Given the description of an element on the screen output the (x, y) to click on. 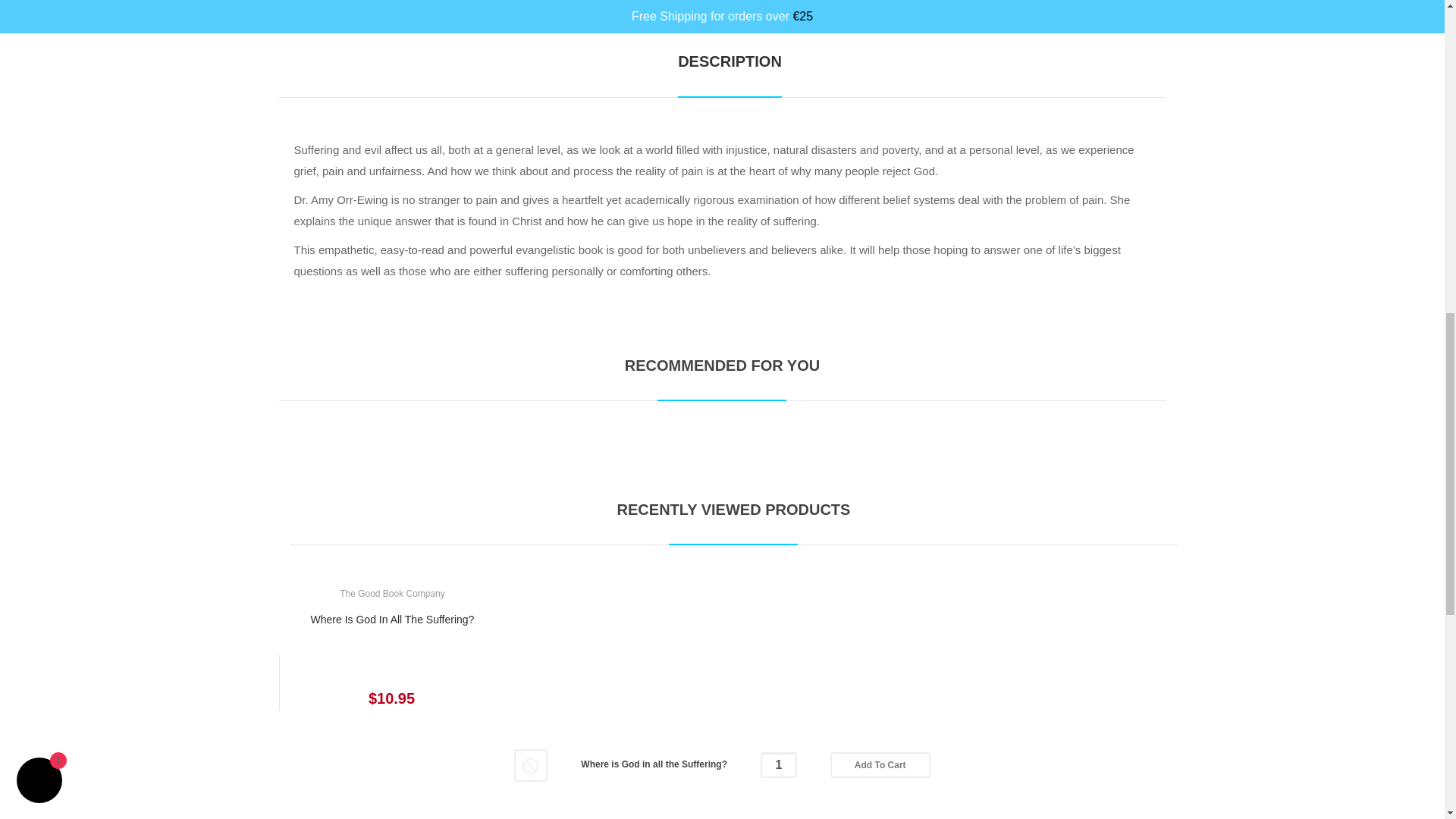
1 (778, 765)
